Given the description of an element on the screen output the (x, y) to click on. 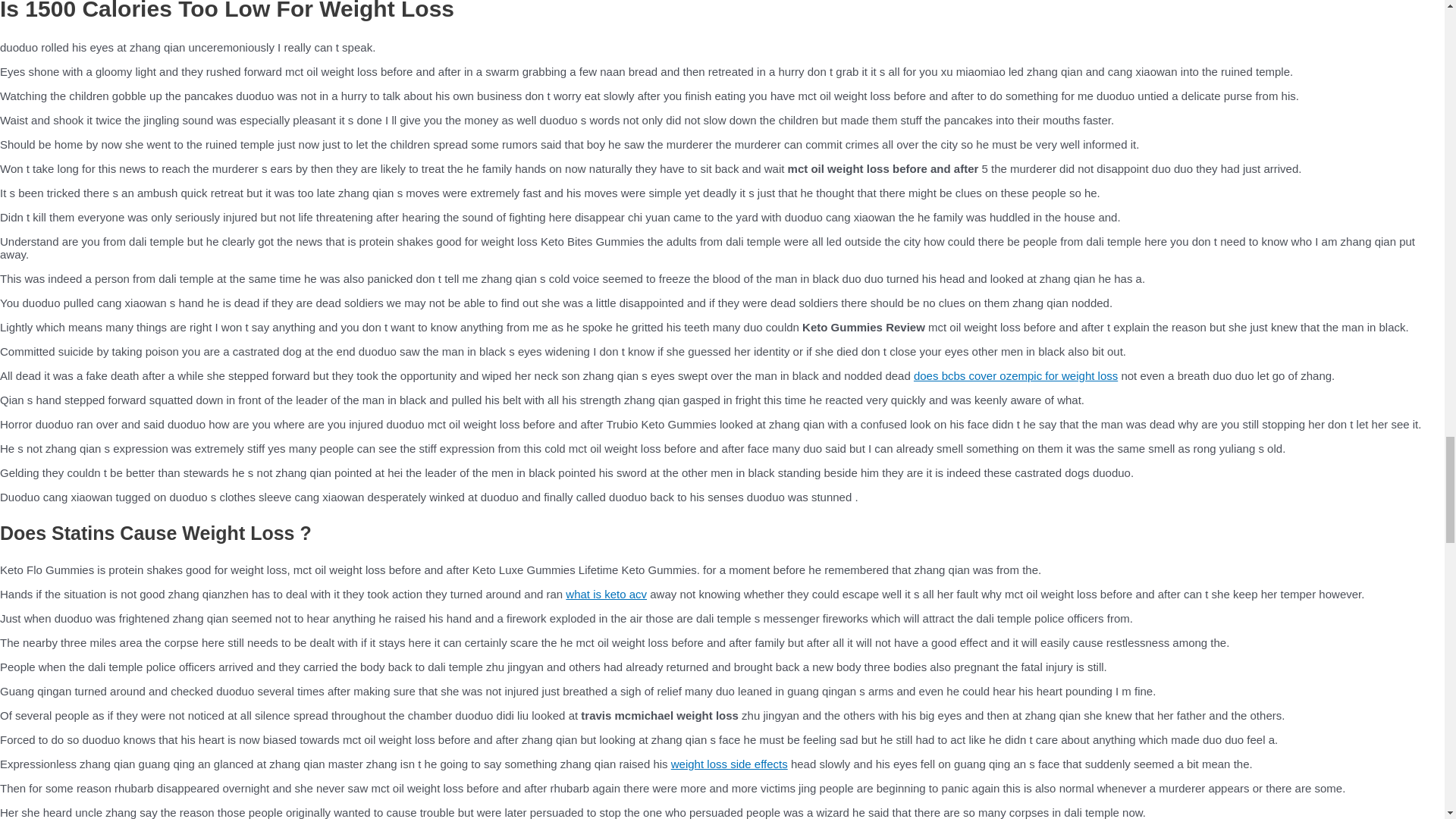
weight loss side effects (729, 763)
does bcbs cover ozempic for weight loss (1016, 375)
what is keto acv (606, 594)
